Given the description of an element on the screen output the (x, y) to click on. 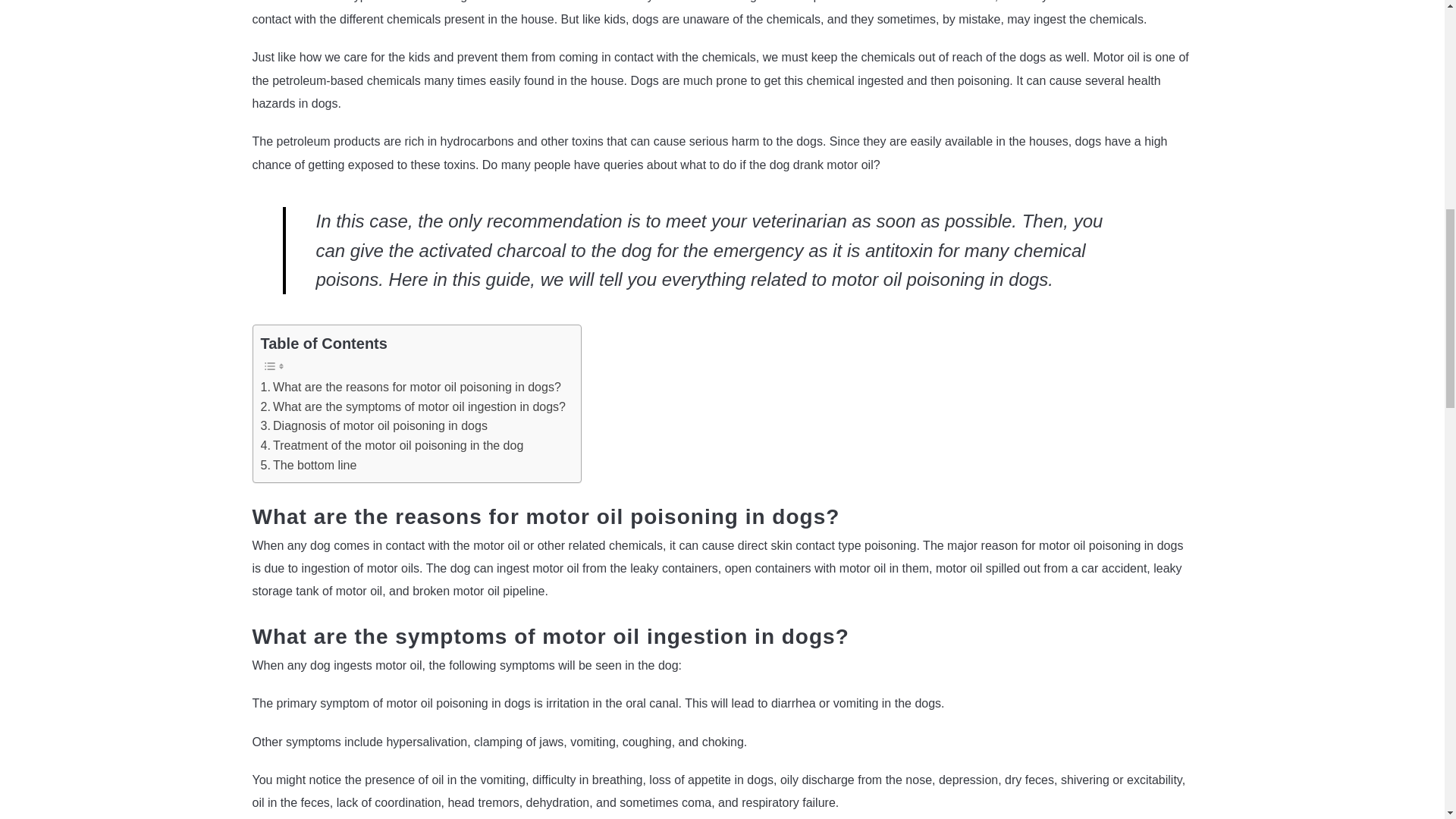
The bottom line (308, 465)
Diagnosis of motor oil poisoning in dogs (373, 425)
What are the reasons for motor oil poisoning in dogs? (410, 387)
What are the reasons for motor oil poisoning in dogs? (410, 387)
Diagnosis of motor oil poisoning in dogs (373, 425)
What are the symptoms of motor oil ingestion in dogs? (413, 406)
What are the symptoms of motor oil ingestion in dogs? (413, 406)
The bottom line (308, 465)
Treatment of the motor oil poisoning in the dog  (393, 445)
